Given the description of an element on the screen output the (x, y) to click on. 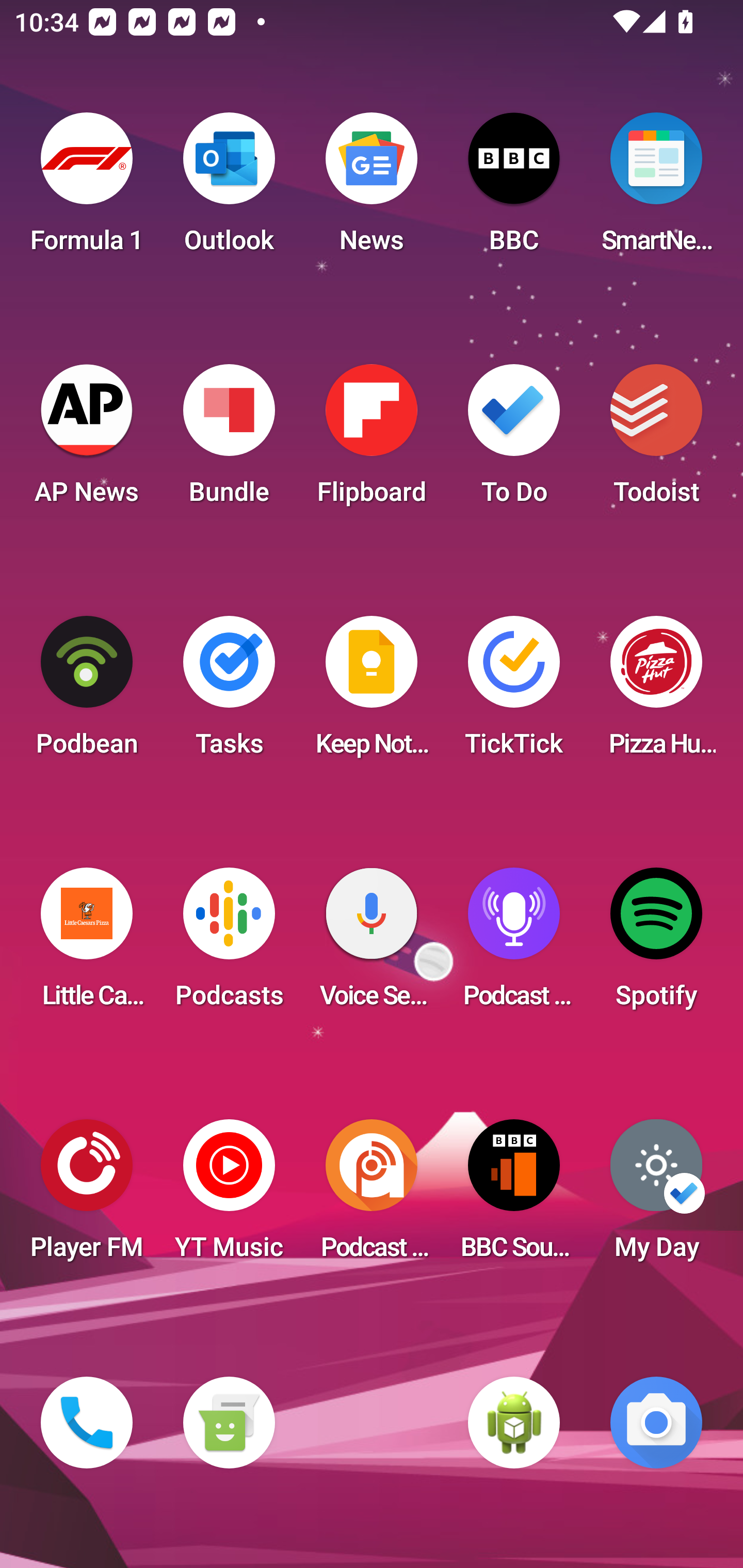
Formula 1 (86, 188)
Outlook (228, 188)
News (371, 188)
BBC (513, 188)
SmartNews (656, 188)
AP News (86, 440)
Bundle (228, 440)
Flipboard (371, 440)
To Do (513, 440)
Todoist (656, 440)
Podbean (86, 692)
Tasks (228, 692)
Keep Notes (371, 692)
TickTick (513, 692)
Pizza Hut HK & Macau (656, 692)
Little Caesars Pizza (86, 943)
Podcasts (228, 943)
Voice Search (371, 943)
Podcast Player (513, 943)
Spotify (656, 943)
Player FM (86, 1195)
YT Music (228, 1195)
Podcast Addict (371, 1195)
BBC Sounds (513, 1195)
My Day (656, 1195)
Phone (86, 1422)
Messaging (228, 1422)
WebView Browser Tester (513, 1422)
Camera (656, 1422)
